Given the description of an element on the screen output the (x, y) to click on. 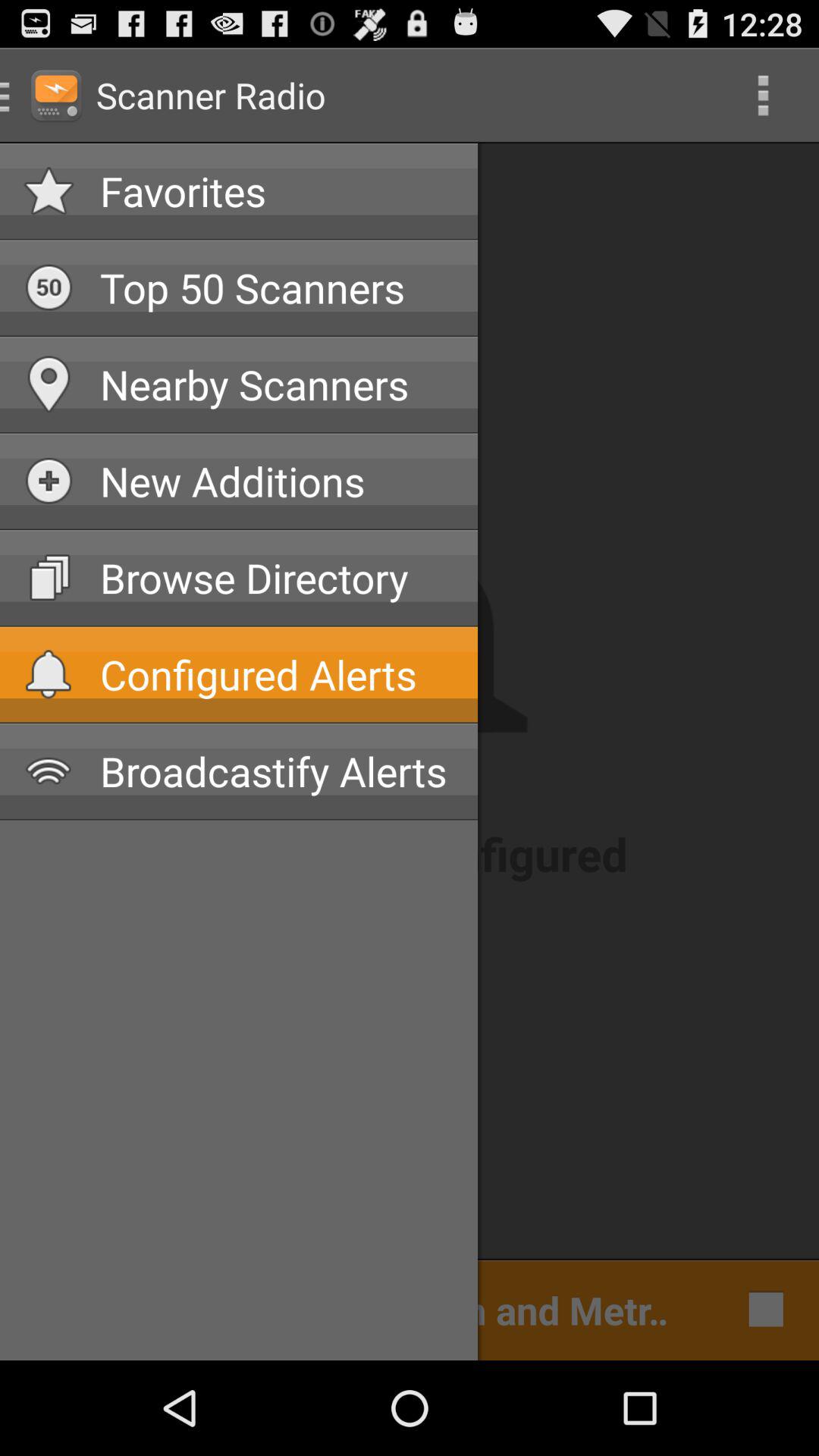
launch app above nearby scanners app (276, 287)
